Given the description of an element on the screen output the (x, y) to click on. 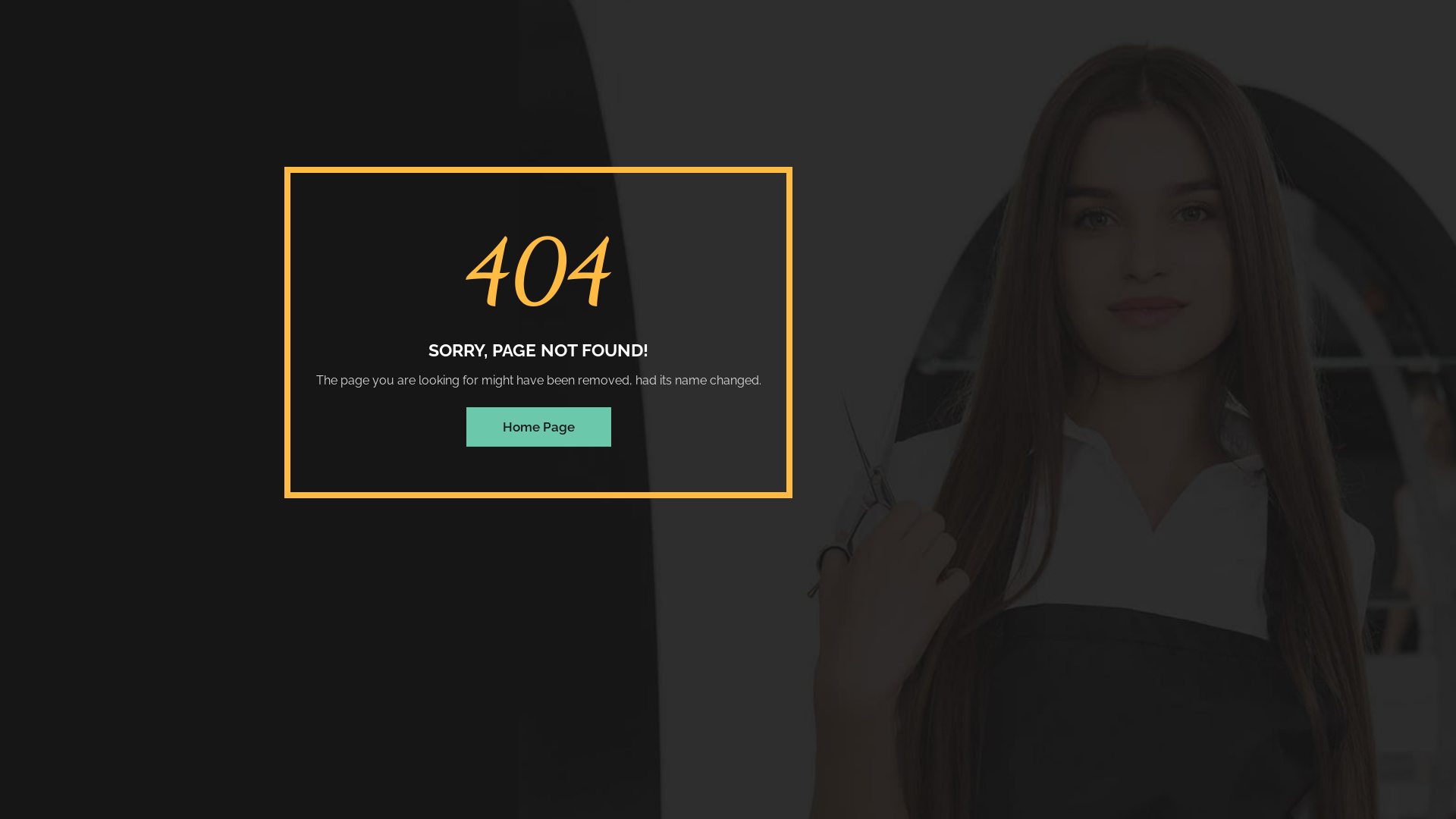
Home Page Element type: text (537, 426)
